Given the description of an element on the screen output the (x, y) to click on. 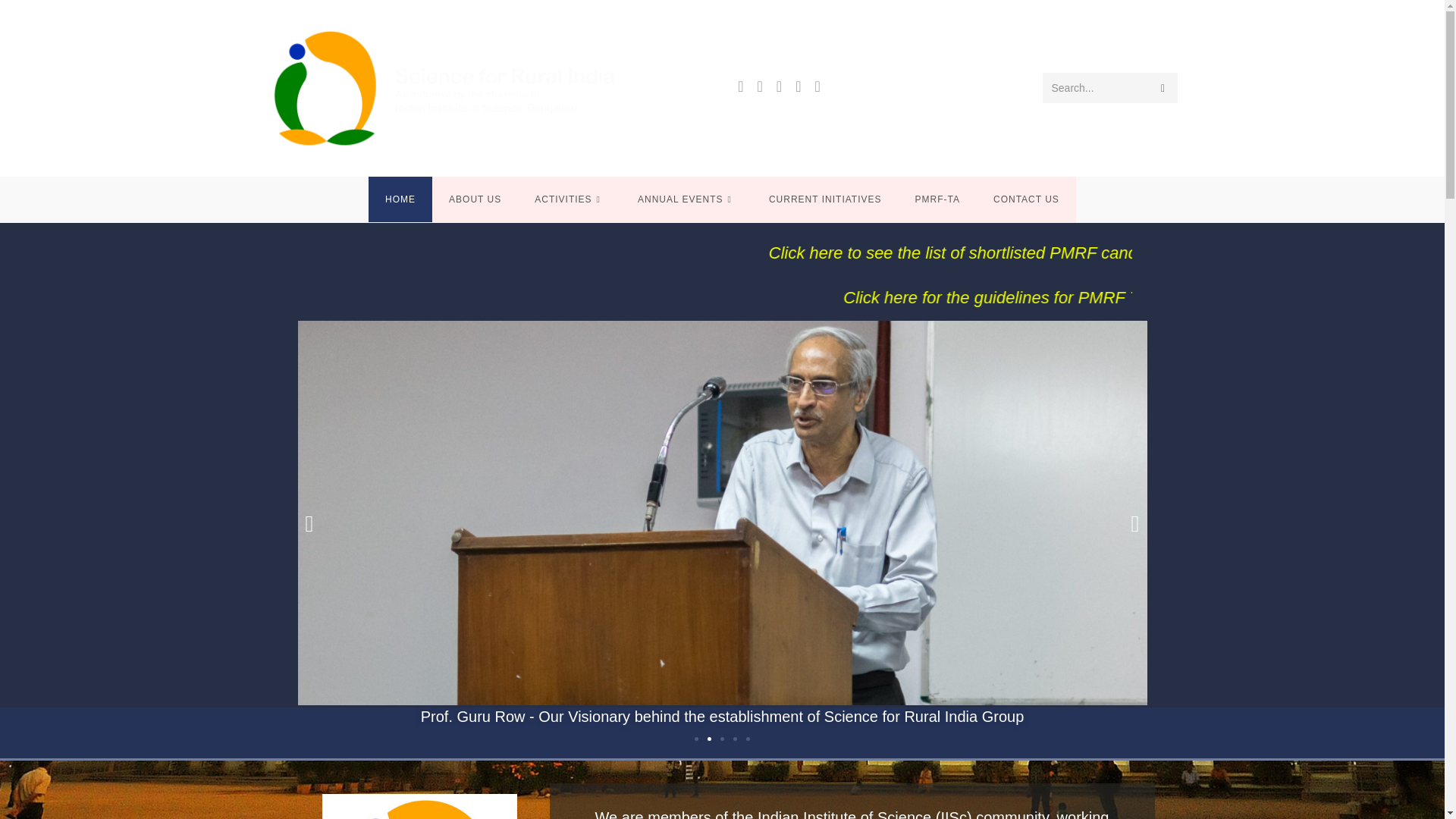
CONTACT US (1025, 198)
PMRF-TA (937, 198)
ANNUAL EVENTS (686, 198)
CURRENT INITIATIVES (825, 198)
ABOUT US (475, 198)
ACTIVITIES (569, 198)
HOME (400, 198)
